Given the description of an element on the screen output the (x, y) to click on. 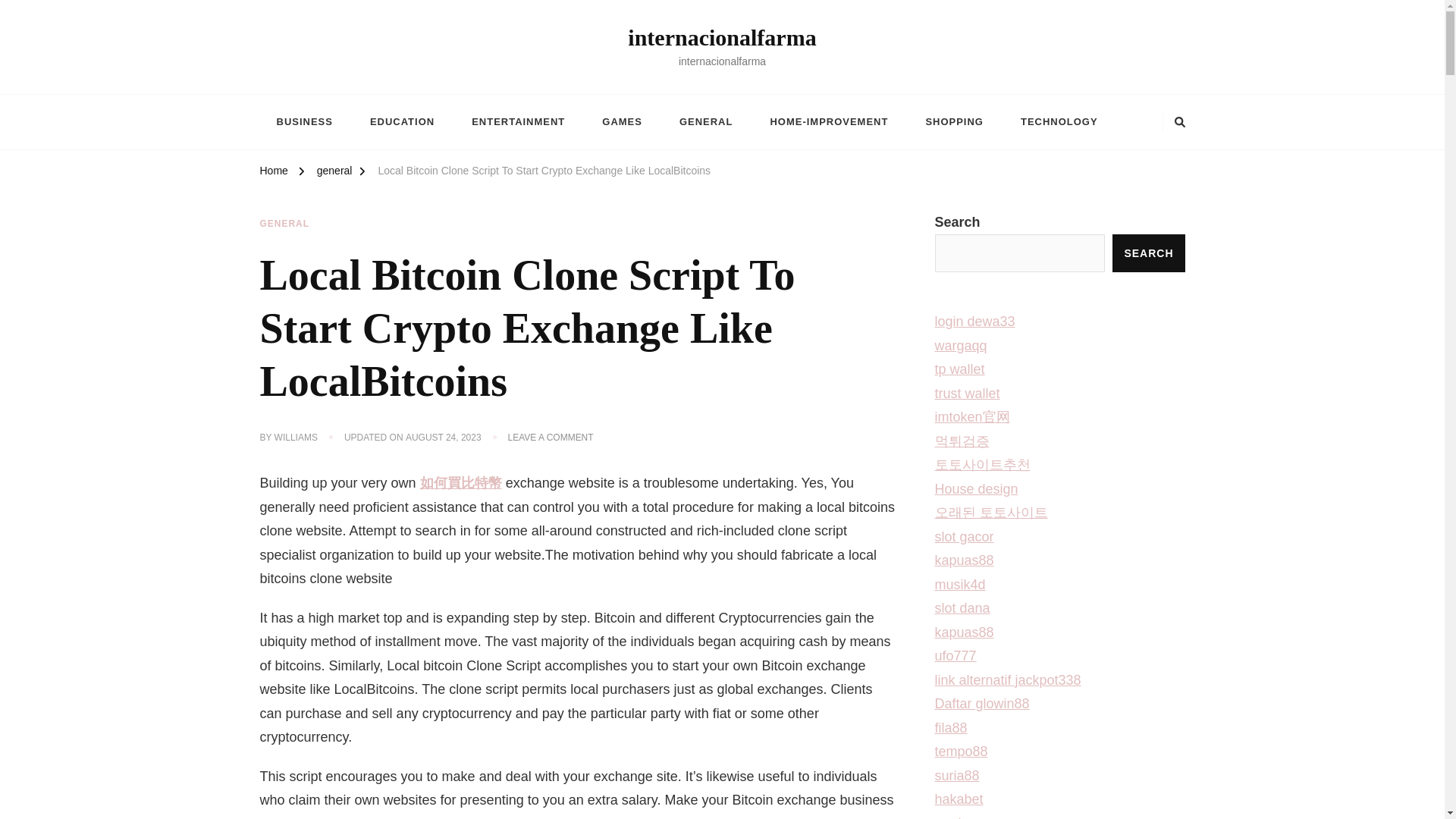
Home (272, 172)
internacionalfarma (721, 37)
GAMES (622, 121)
EDUCATION (402, 121)
ENTERTAINMENT (517, 121)
WILLIAMS (296, 438)
TECHNOLOGY (1059, 121)
AUGUST 24, 2023 (443, 438)
GENERAL (705, 121)
SHOPPING (954, 121)
HOME-IMPROVEMENT (828, 121)
GENERAL (283, 223)
BUSINESS (304, 121)
